Given the description of an element on the screen output the (x, y) to click on. 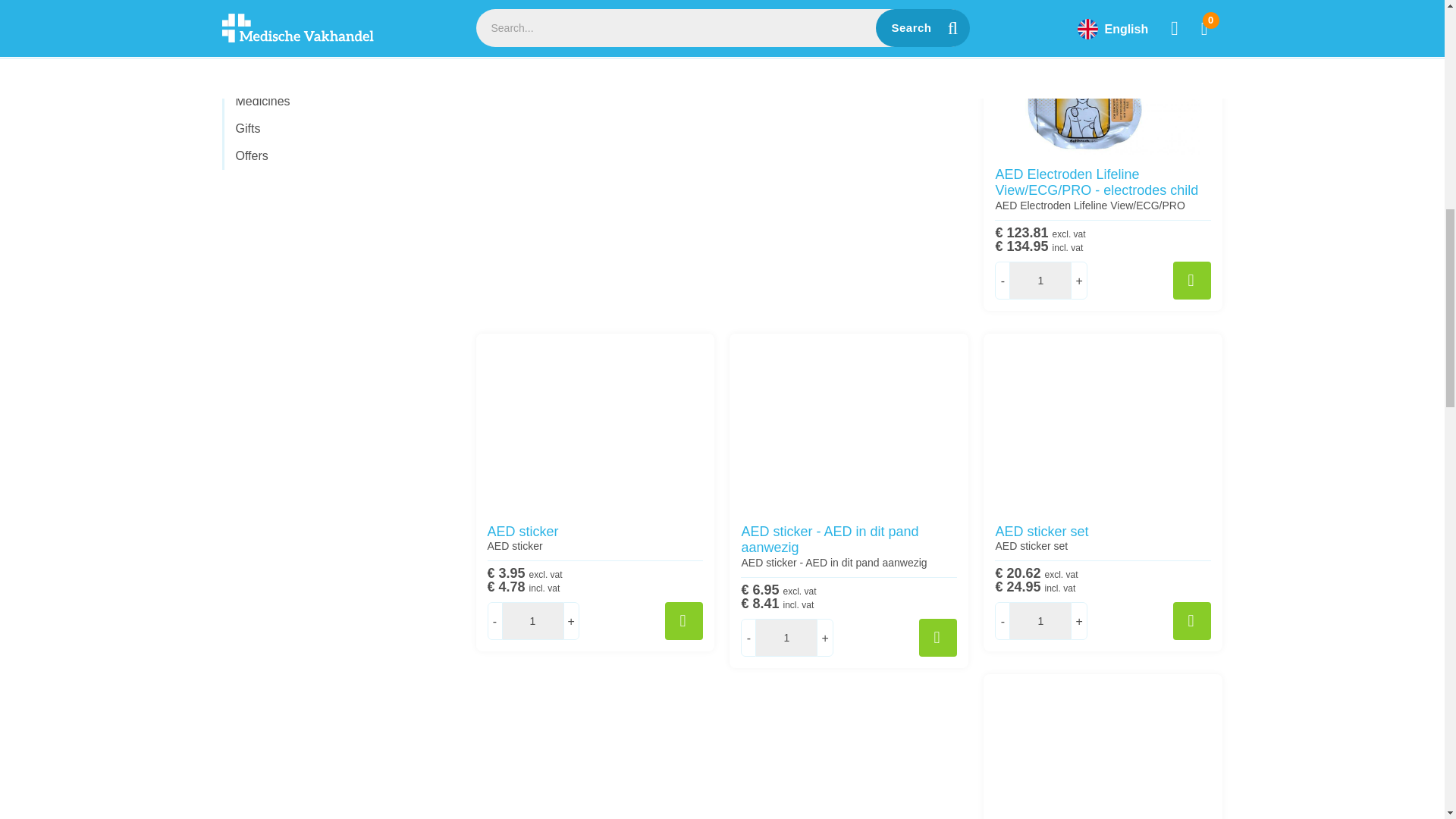
1 (532, 620)
AED sticker - AED in dit pand aanwezig (848, 422)
AED sticker set (1103, 422)
1 (785, 637)
AED sticker (595, 422)
1 (1040, 620)
1 (1040, 280)
AED Wall cabinet white - break glass alarm (1103, 746)
